Given the description of an element on the screen output the (x, y) to click on. 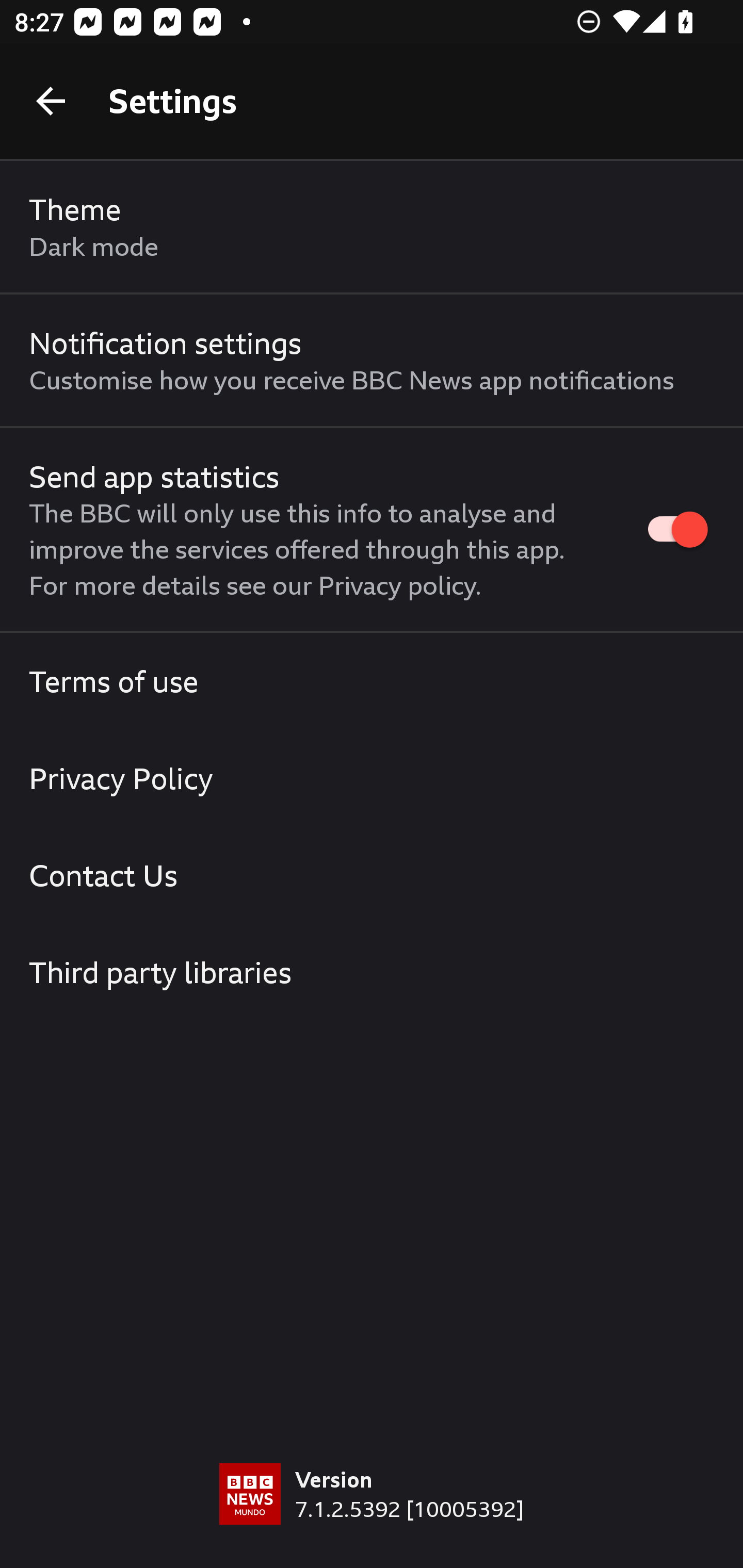
Back (50, 101)
Theme Dark mode (371, 227)
Terms of use (371, 681)
Privacy Policy (371, 777)
Contact Us (371, 874)
Third party libraries (371, 971)
Version 7.1.2.5392 [10005392] (371, 1515)
